Given the description of an element on the screen output the (x, y) to click on. 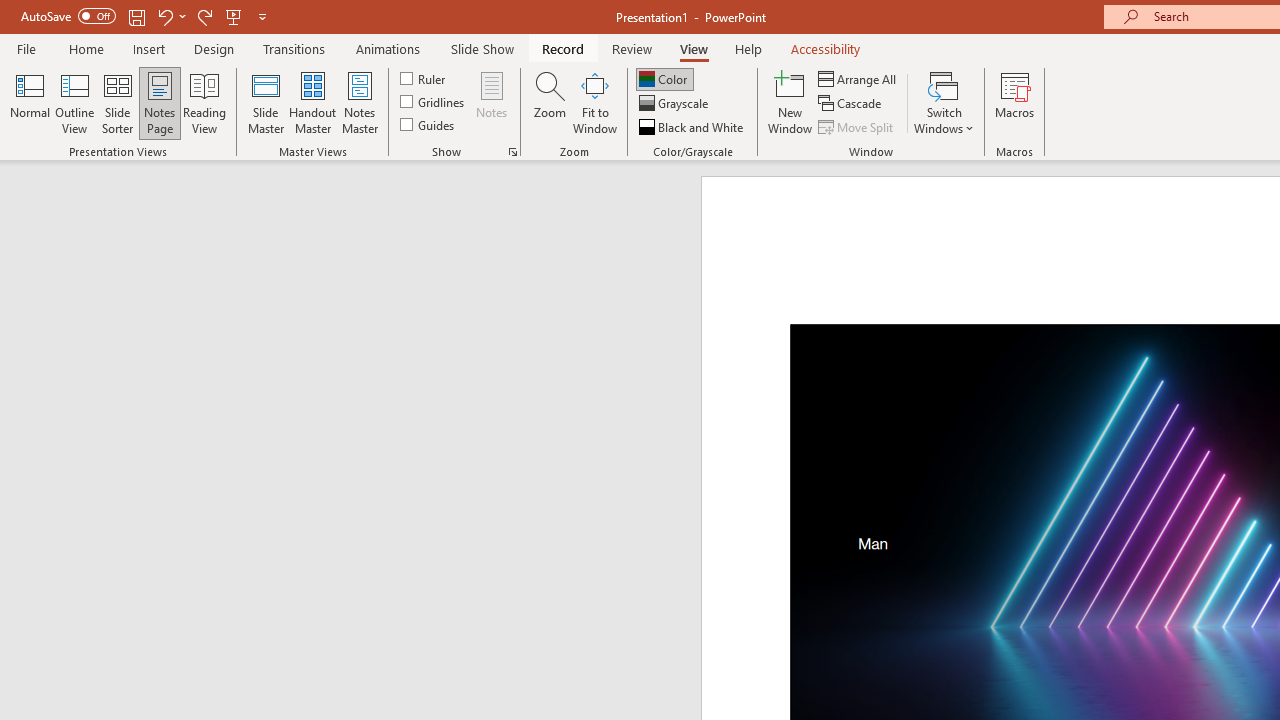
Guides (428, 124)
Macros (1014, 102)
Black and White (693, 126)
Notes Master (360, 102)
Fit to Window (594, 102)
Cascade (851, 103)
Color (664, 78)
